Given the description of an element on the screen output the (x, y) to click on. 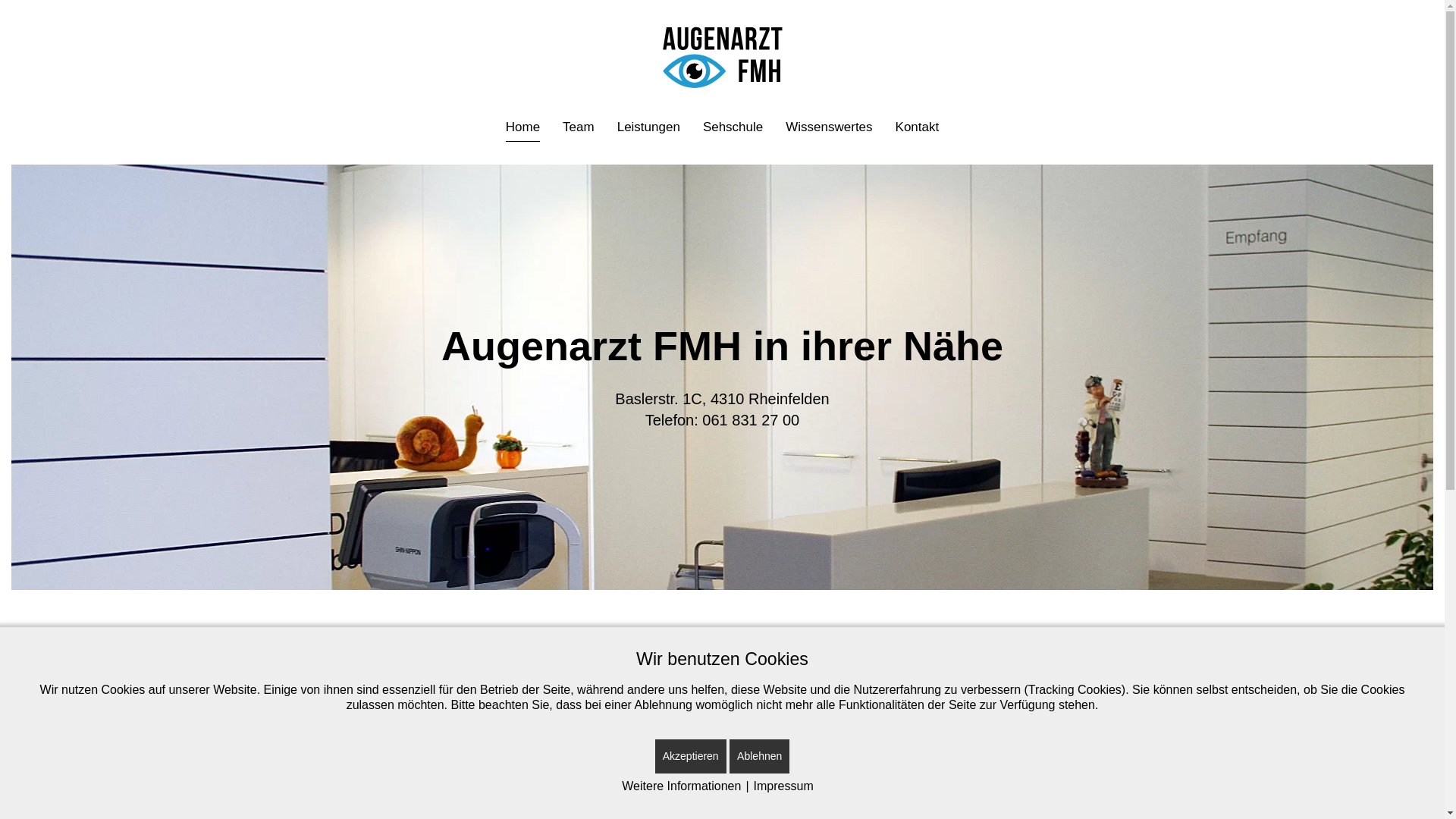
Urlaub/Vertretung Element type: text (1076, 792)
Akzeptieren Element type: text (690, 756)
Wissenswertes Element type: text (828, 126)
Team Element type: text (578, 126)
Leistungen Element type: text (648, 126)
Ablehnen Element type: text (759, 756)
Home Element type: text (522, 126)
Weitere Informationen Element type: text (680, 786)
Kontakt Element type: text (917, 126)
Im Notfall Element type: text (1076, 737)
Sehschule Element type: text (732, 126)
Impressum Element type: text (783, 786)
